Given the description of an element on the screen output the (x, y) to click on. 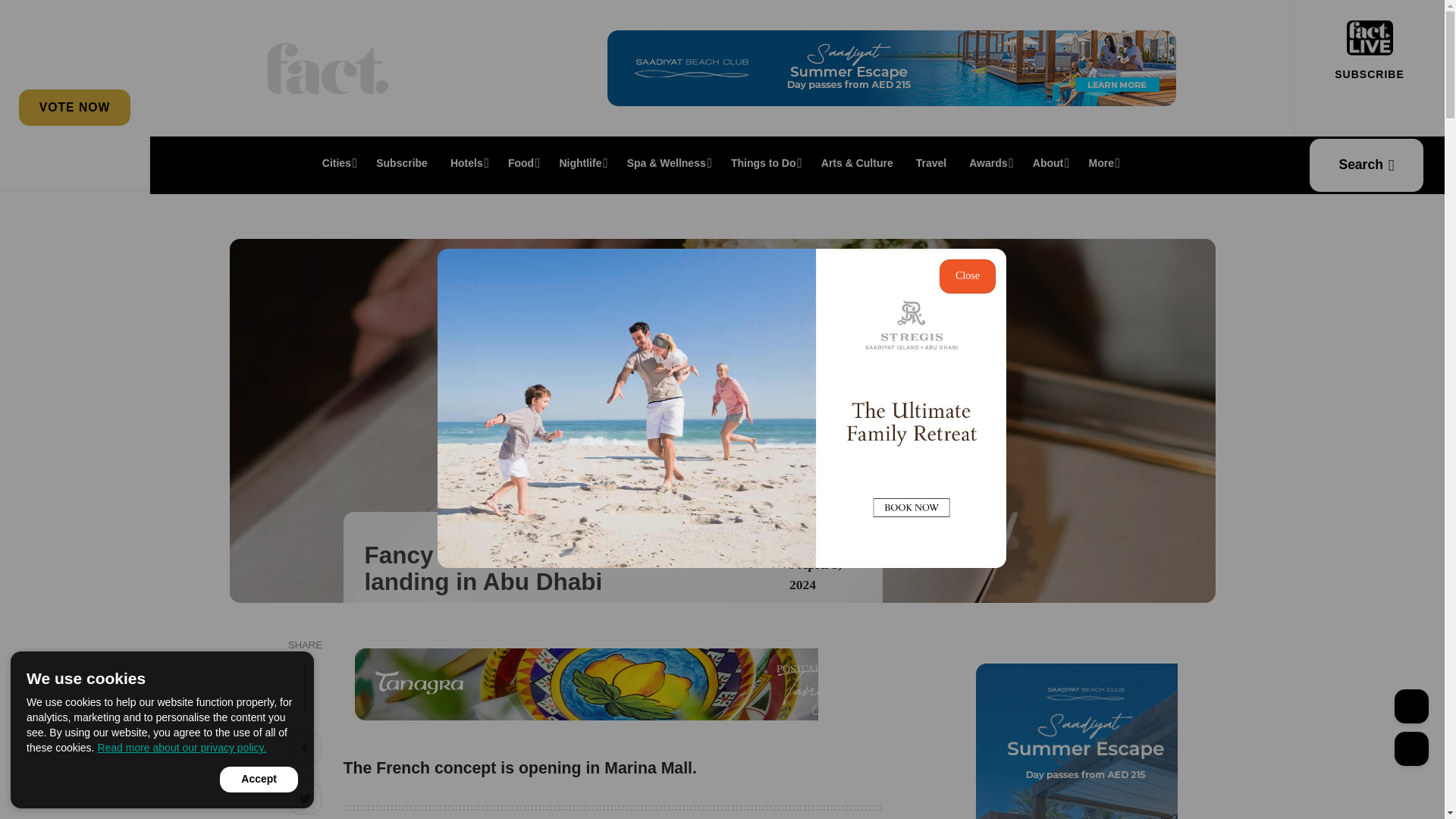
SUBSCRIBE (1369, 74)
Subscribe (402, 162)
VOTE NOW (74, 107)
Nightlife (580, 162)
April 3, 2024 at 8:15 am (815, 574)
Close (967, 276)
Food (521, 162)
Cities (338, 162)
Share on Facebook (304, 750)
Share on Twitter (304, 800)
